Given the description of an element on the screen output the (x, y) to click on. 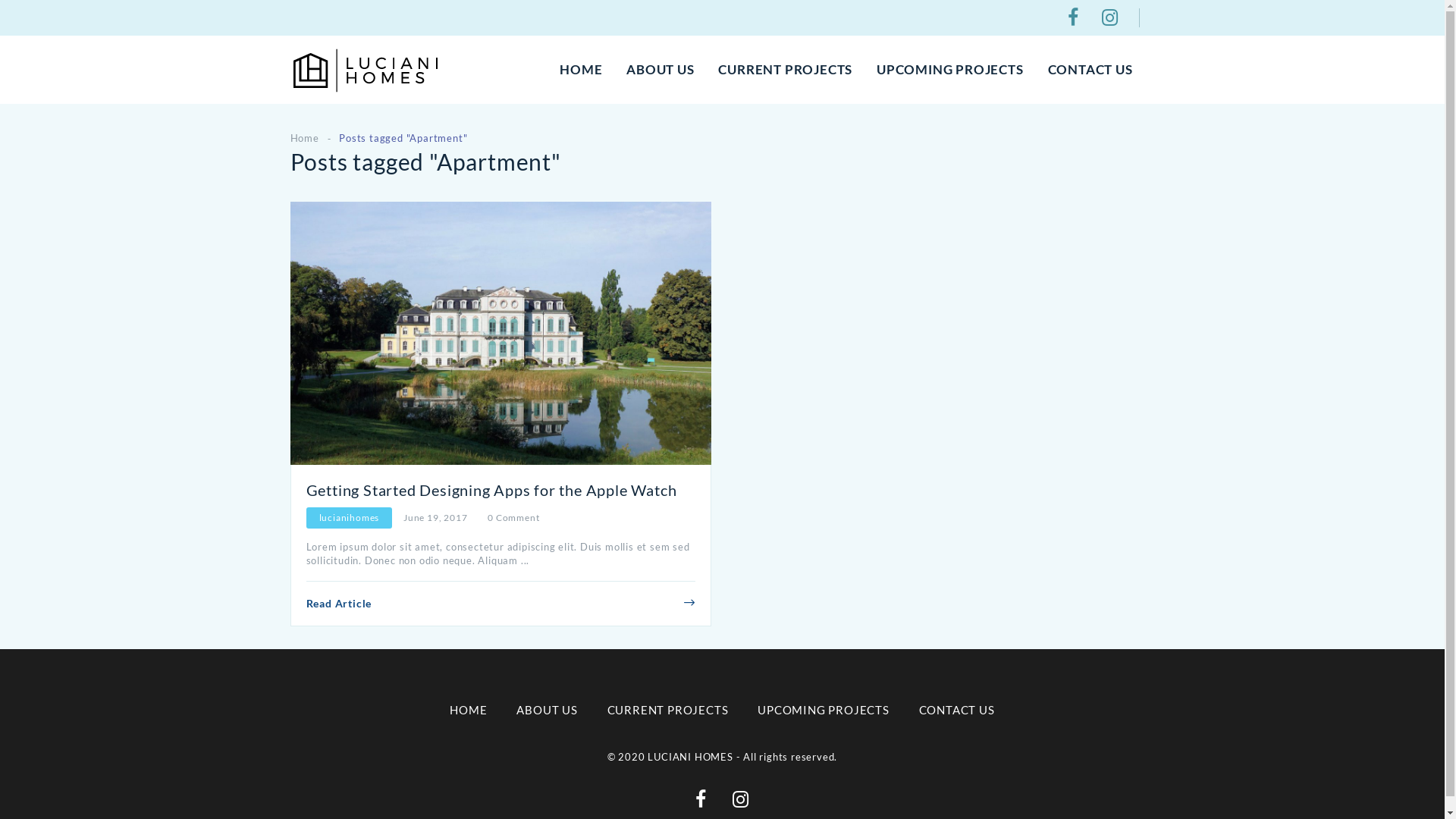
CONTACT US Element type: text (956, 709)
HOME Element type: text (580, 69)
ABOUT US Element type: text (659, 69)
Home Element type: text (303, 137)
  Element type: text (1075, 20)
UPCOMING PROJECTS Element type: text (823, 709)
Read Article Element type: text (339, 603)
ABOUT US Element type: text (546, 709)
HOME Element type: text (467, 709)
  Element type: text (1112, 20)
UPCOMING PROJECTS Element type: text (950, 69)
CONTACT US Element type: text (1090, 69)
CURRENT PROJECTS Element type: text (667, 709)
CURRENT PROJECTS Element type: text (784, 69)
Getting Started Designing Apps for the Apple Watch Element type: text (491, 489)
lucianihomes Element type: text (348, 517)
